Given the description of an element on the screen output the (x, y) to click on. 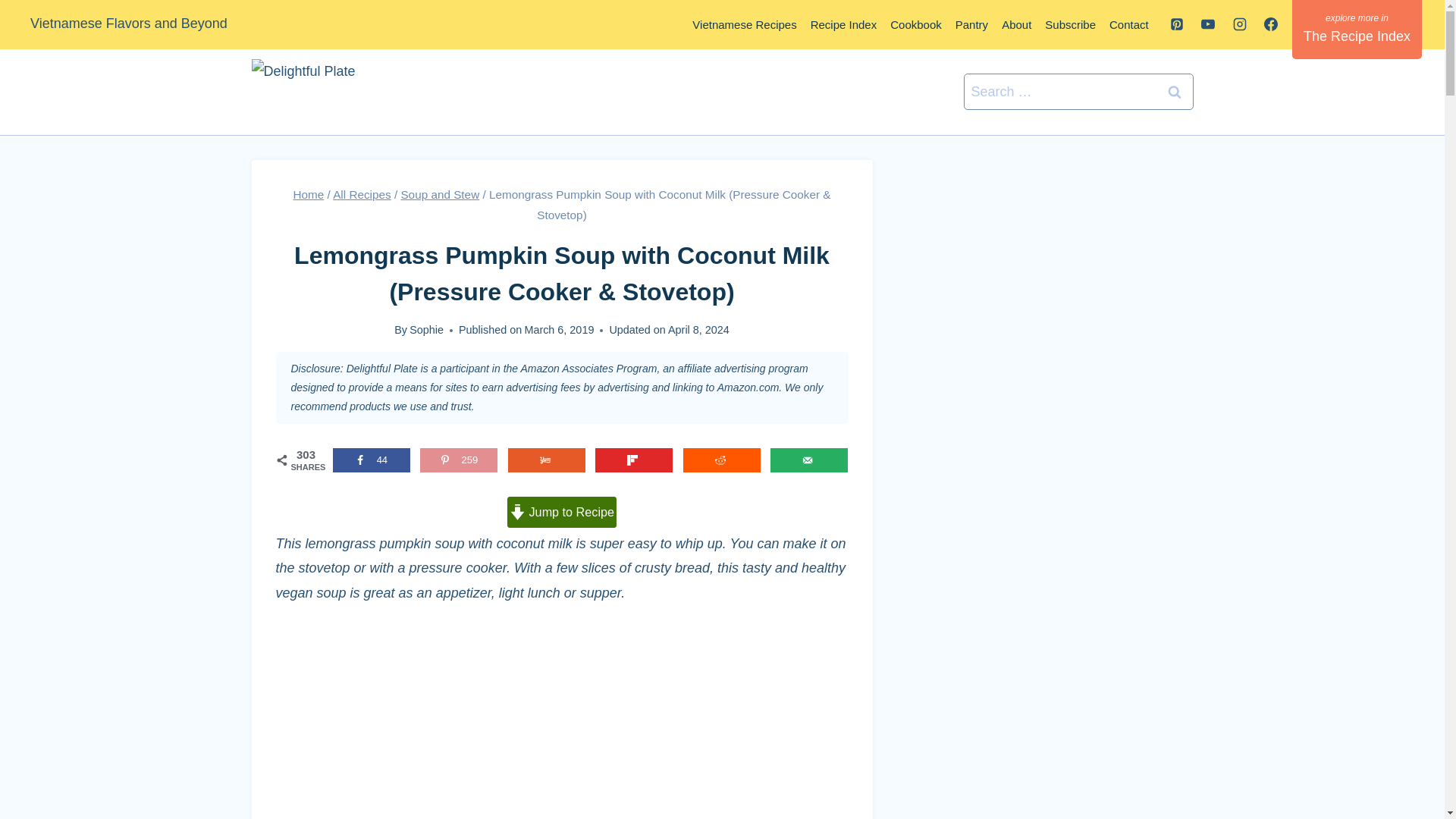
All Recipes (362, 194)
Sophie (426, 329)
Search (1174, 91)
Cookbook (916, 24)
About (1016, 24)
Search (1174, 91)
Pantry (971, 24)
Home (307, 194)
Vietnamese Recipes (744, 24)
Jump to Recipe (560, 511)
259 (458, 459)
Share on Flipboard (633, 459)
Send over email (808, 459)
Soup and Stew (439, 194)
The Recipe Index (1357, 29)
